Given the description of an element on the screen output the (x, y) to click on. 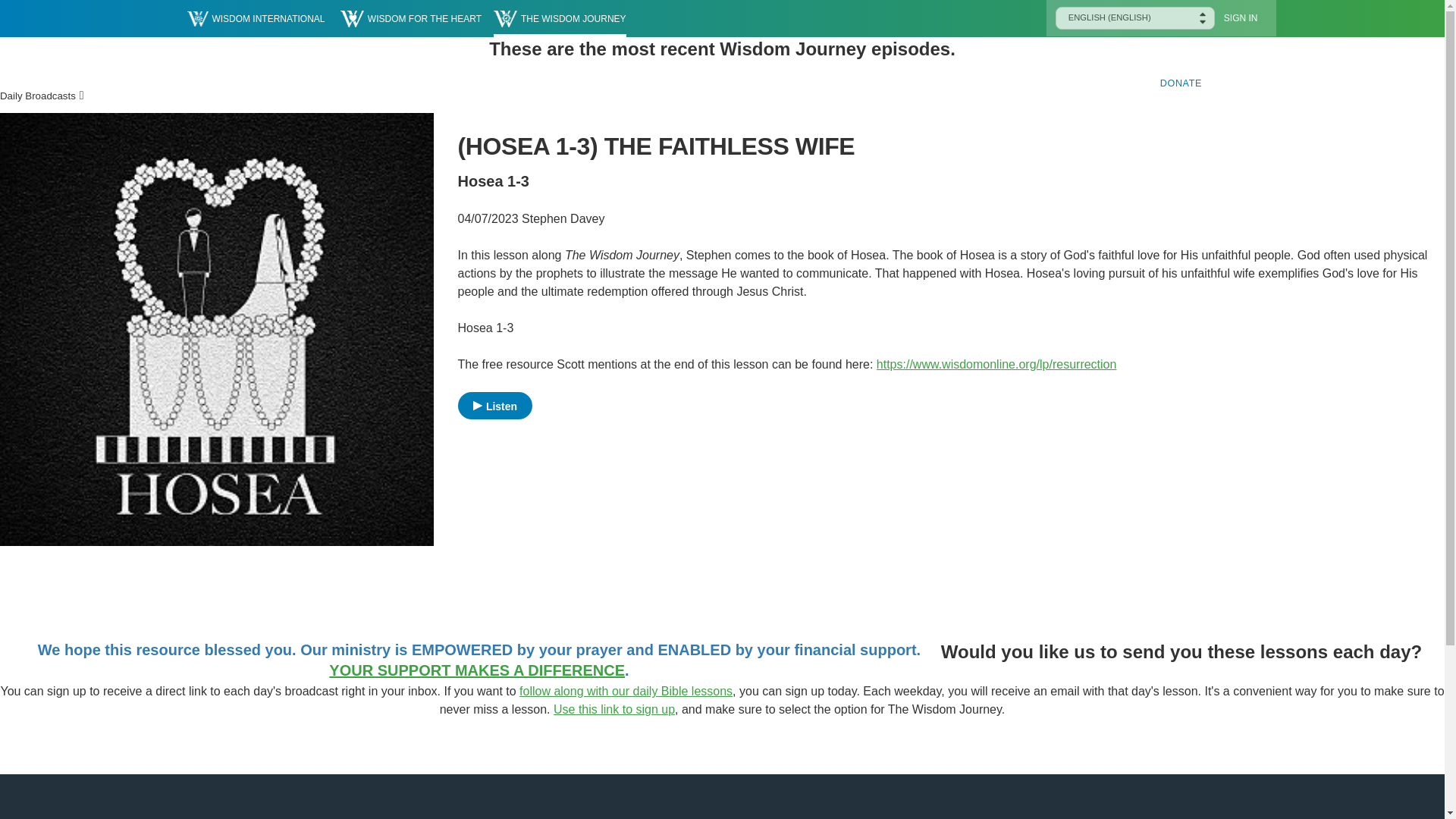
PREVIOUS LESSONS (902, 83)
Daily Broadcasts (37, 96)
Sign In (1240, 18)
Use this link to sign up (614, 708)
WISDOM INTERNATIONAL (255, 18)
Listen (495, 405)
SIGN IN (1240, 18)
DONATE (1181, 83)
WISDOM FOR THE HEART (410, 18)
TWJ PODCAST (782, 83)
THE WISDOM JOURNEY (559, 18)
follow along with our daily Bible lessons (625, 690)
YOUR SUPPORT MAKES A DIFFERENCE (476, 669)
